Given the description of an element on the screen output the (x, y) to click on. 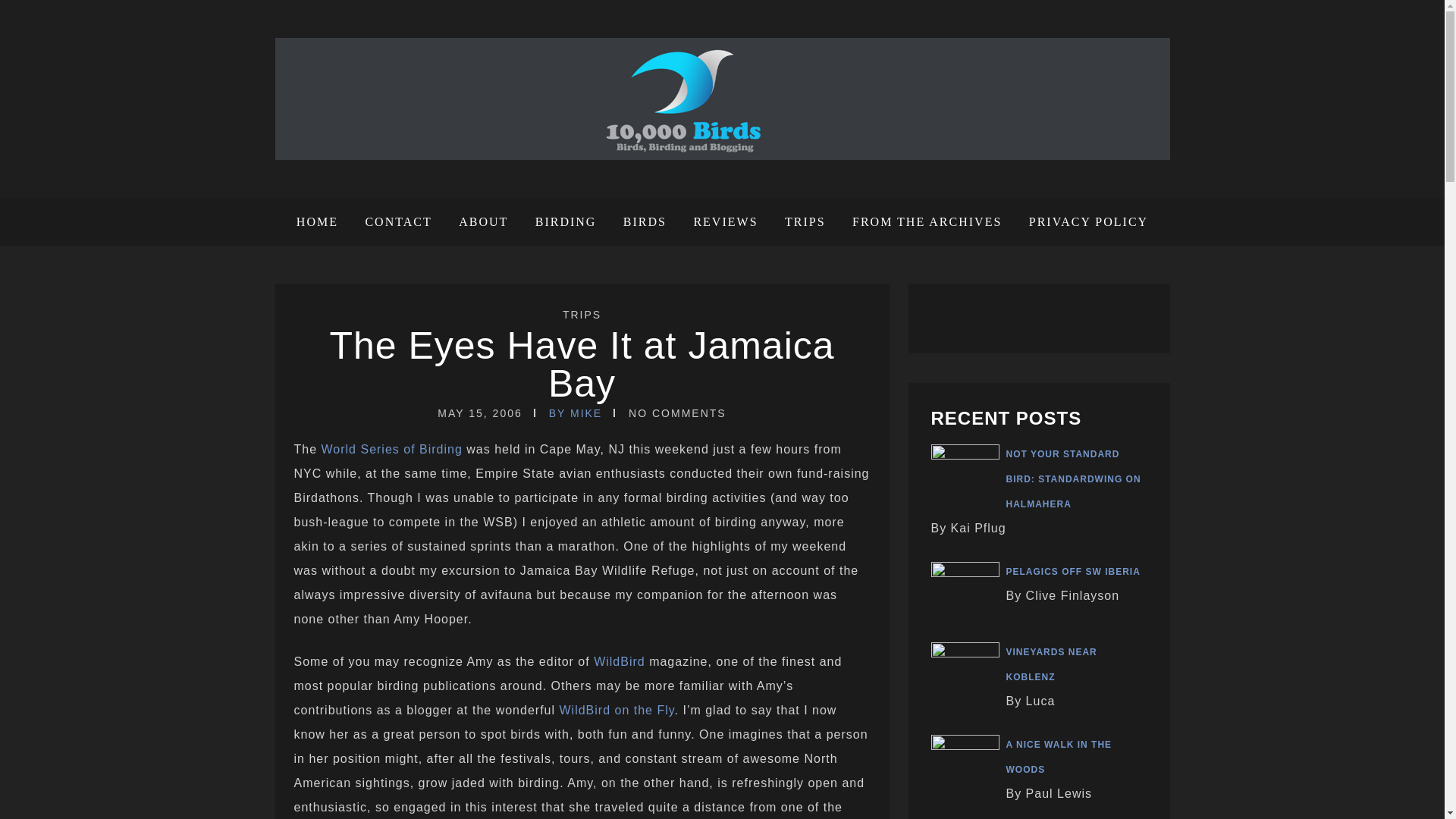
TRIPS (581, 314)
HOME (323, 222)
PRIVACY POLICY (1082, 222)
CONTACT (397, 222)
BIRDING (566, 222)
MAY 15, 2006 (479, 413)
BIRDS (644, 222)
ABOUT (482, 222)
BY MIKE (575, 413)
WildBird on the Fly (616, 709)
WildBird (619, 661)
The Eyes Have It at Jamaica Bay (581, 364)
Permanent (581, 364)
NO COMMENTS (677, 413)
FROM THE ARCHIVES (927, 222)
